Given the description of an element on the screen output the (x, y) to click on. 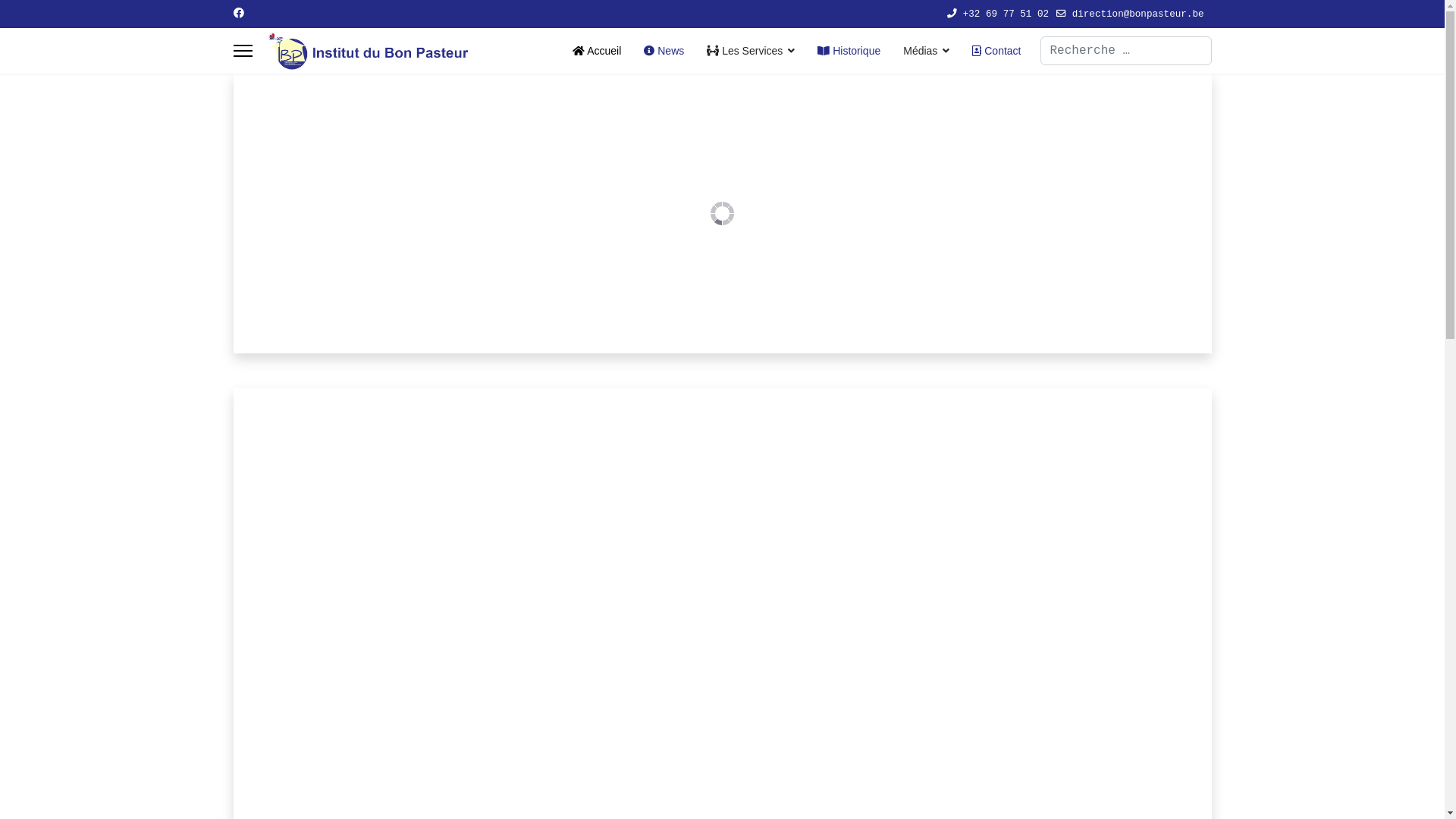
News Element type: text (663, 50)
+32 69 77 51 02 Element type: text (1005, 14)
direction@bonpasteur.be Element type: text (1138, 14)
Menu Element type: hover (242, 50)
Accueil Element type: text (596, 50)
Contact Element type: text (990, 50)
Historique Element type: text (848, 50)
